Given the description of an element on the screen output the (x, y) to click on. 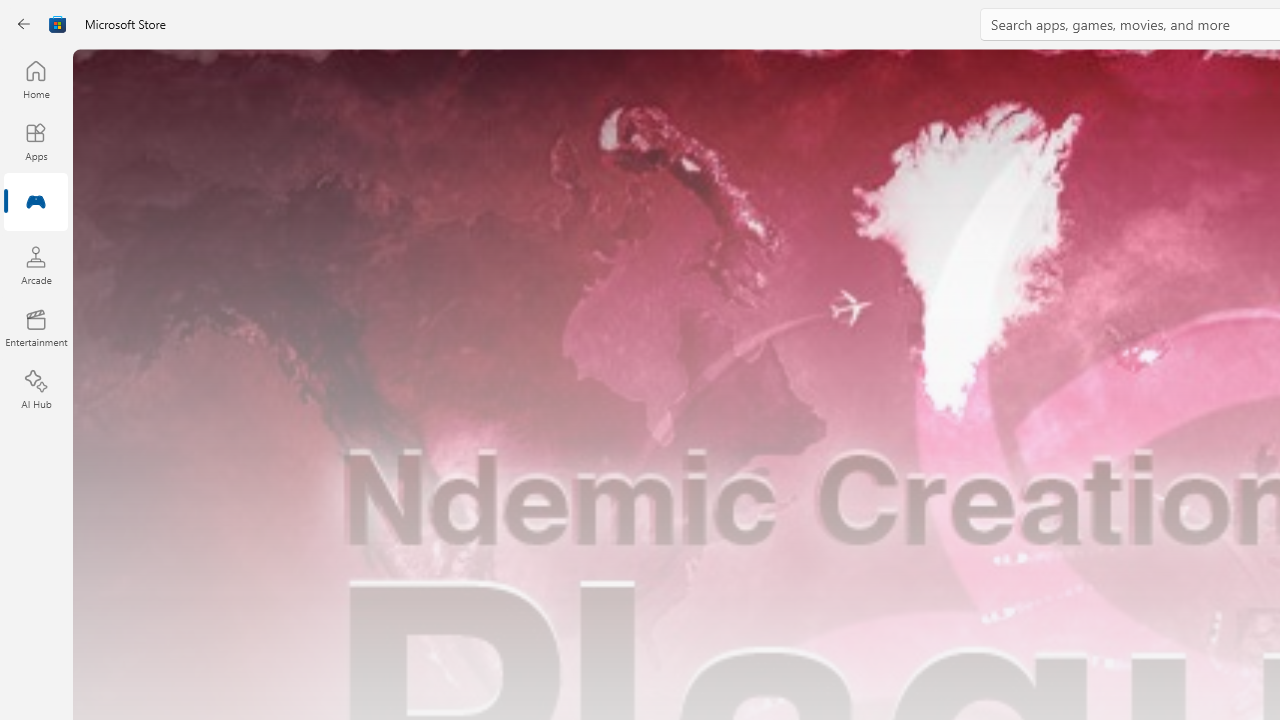
Apps (35, 141)
Arcade (35, 265)
AI Hub (35, 390)
Back (24, 24)
Entertainment (35, 327)
Class: Image (58, 24)
Home (35, 79)
Gaming (35, 203)
